Given the description of an element on the screen output the (x, y) to click on. 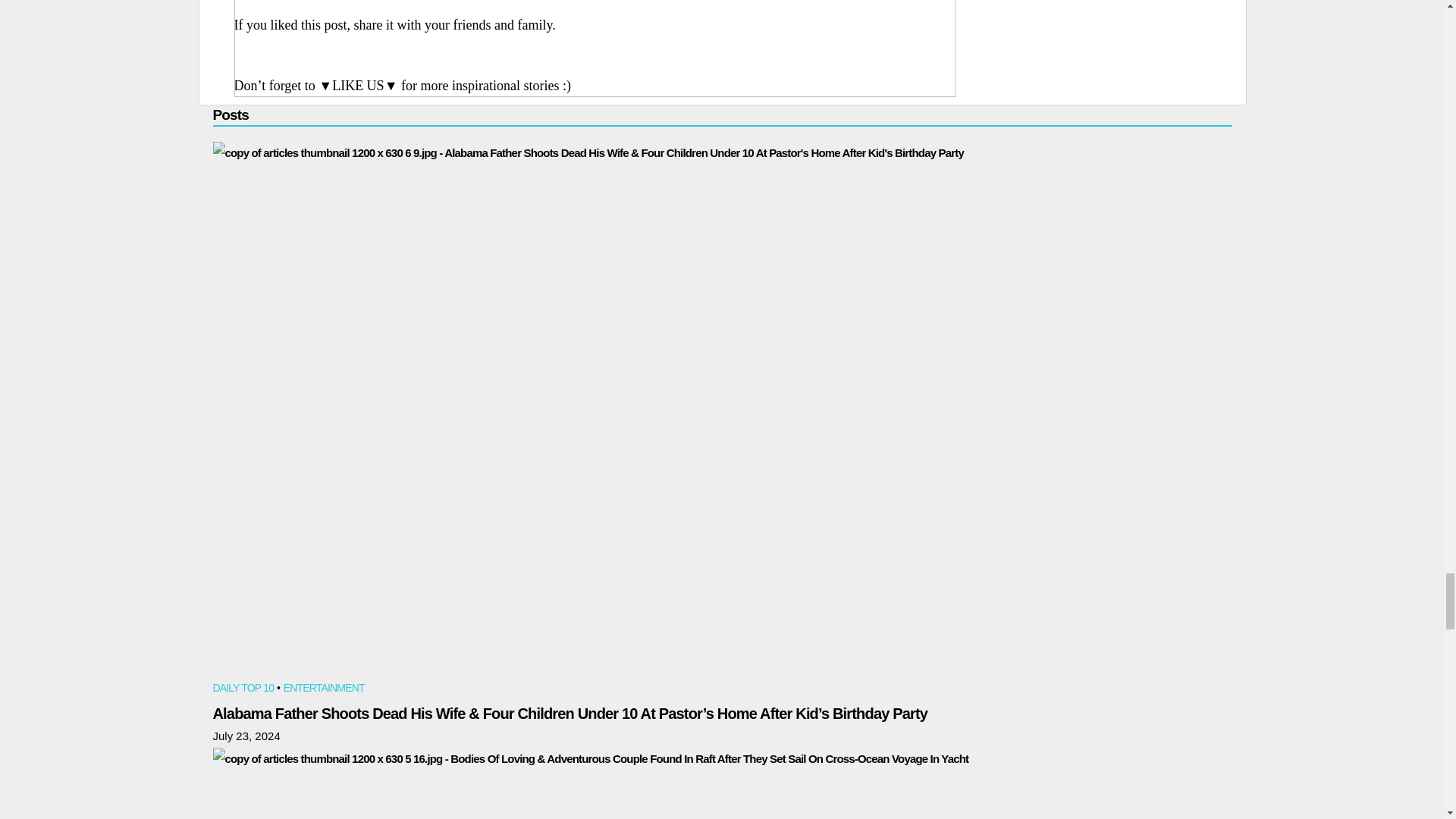
ENTERTAINMENT (324, 688)
DAILY TOP 10 (242, 688)
